Given the description of an element on the screen output the (x, y) to click on. 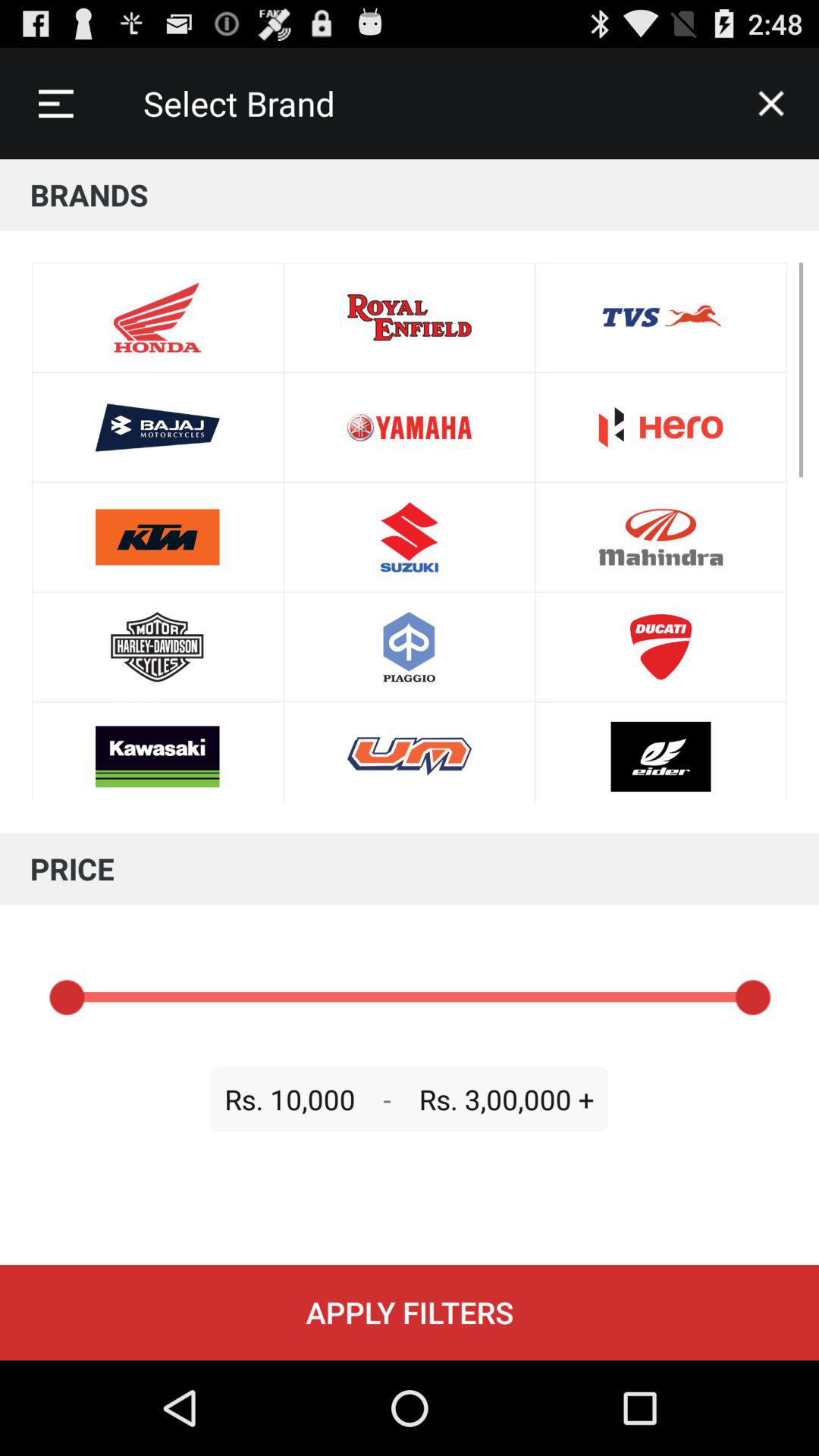
turn on icon to the left of select brand icon (55, 103)
